Given the description of an element on the screen output the (x, y) to click on. 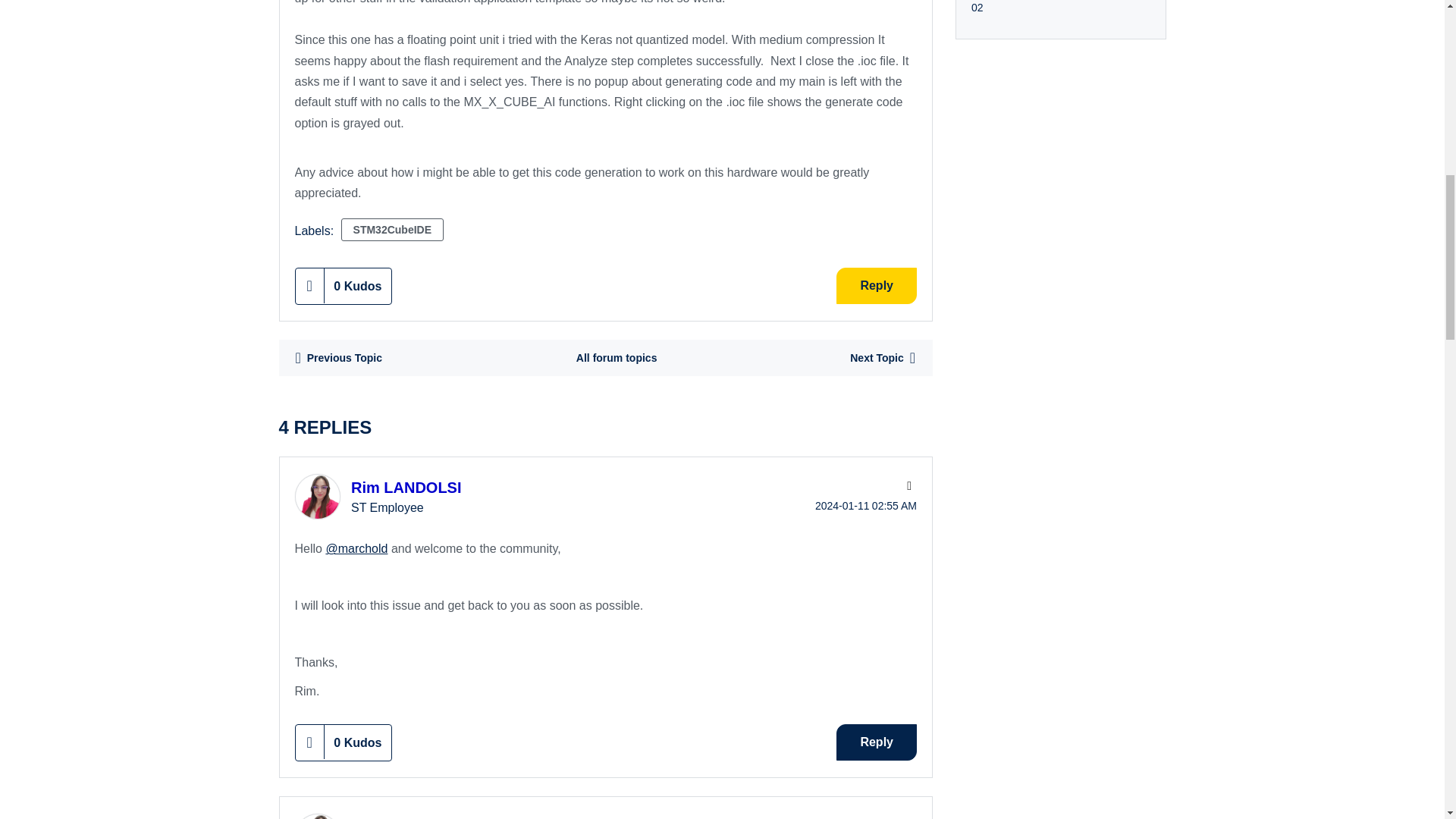
The total number of kudos this post has received. (357, 285)
